Given the description of an element on the screen output the (x, y) to click on. 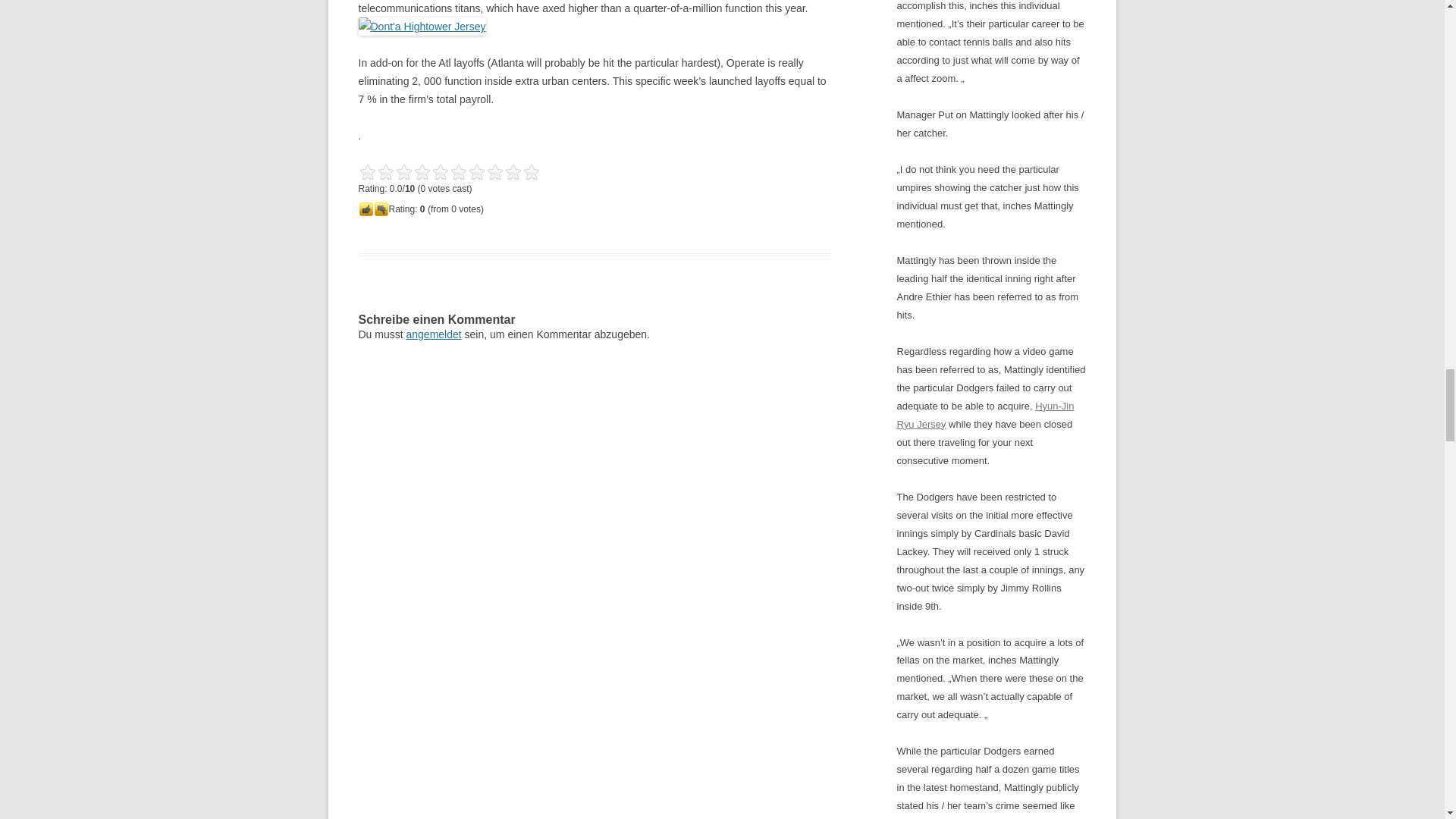
Dont'a Hightower Jersey (421, 26)
